Given the description of an element on the screen output the (x, y) to click on. 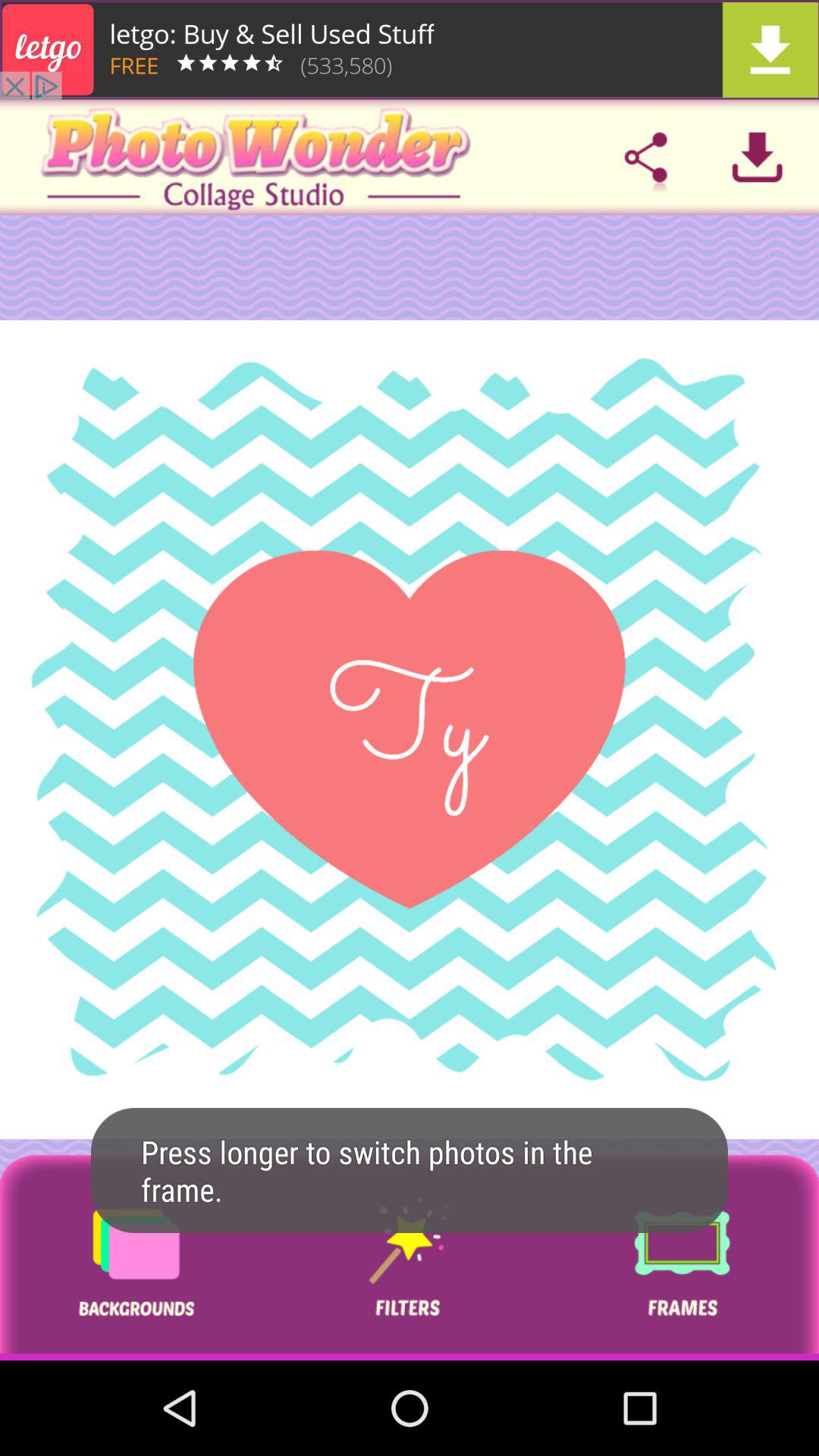
button for filter options (408, 1257)
